Given the description of an element on the screen output the (x, y) to click on. 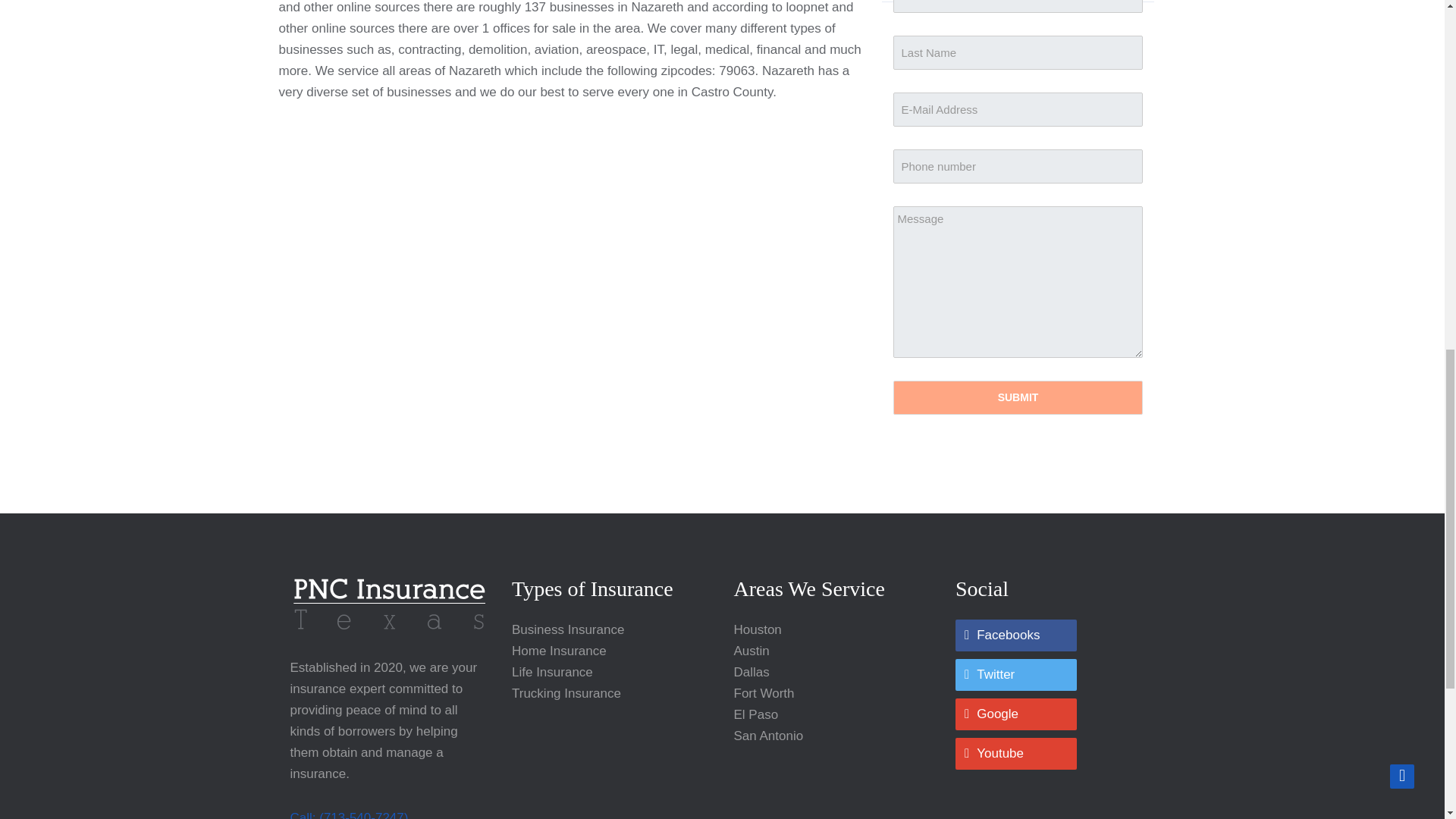
Submit (1017, 397)
